Given the description of an element on the screen output the (x, y) to click on. 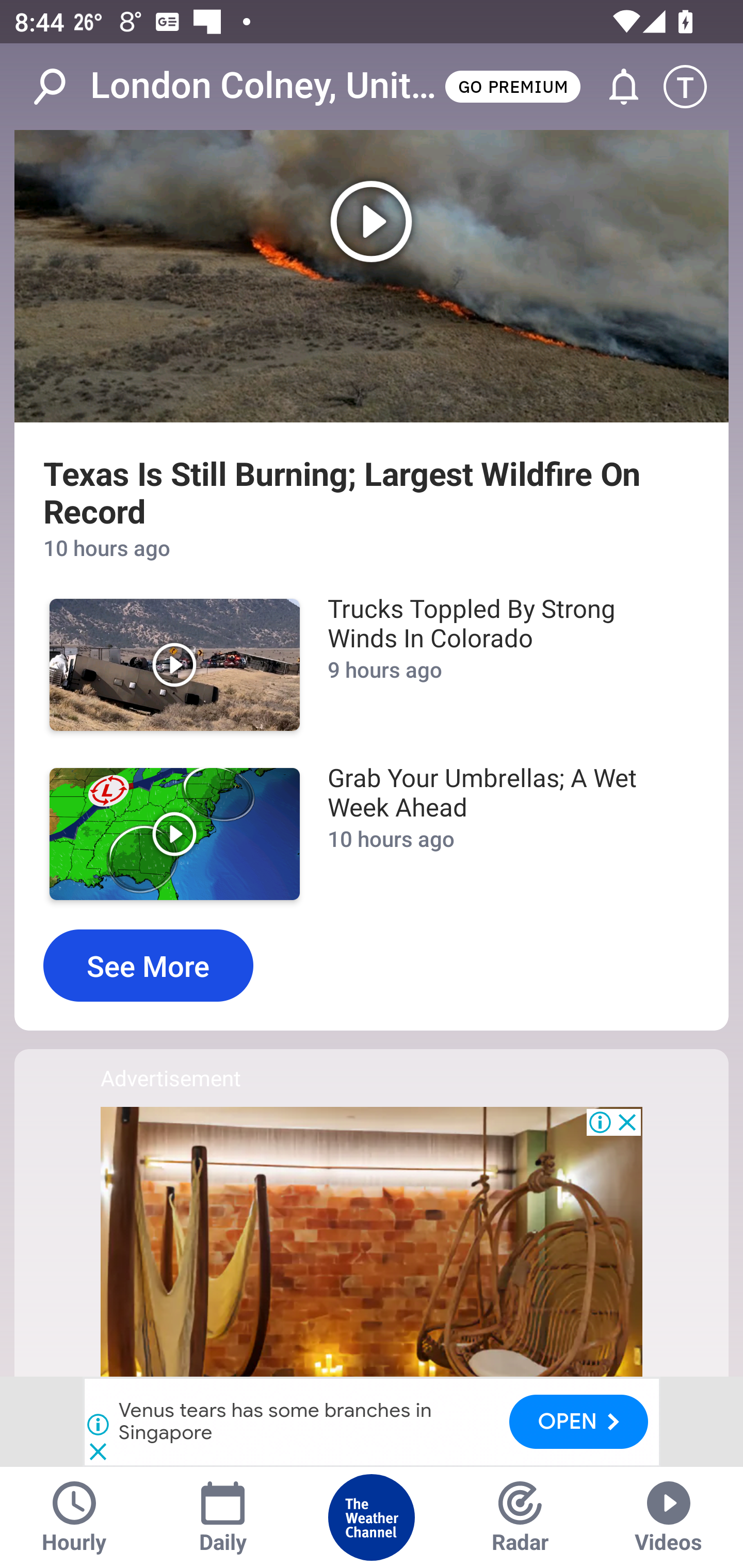
Search (59, 86)
Go to Alerts and Notifications (614, 86)
Setting icon T (694, 86)
London Colney, United Kingdom (265, 85)
GO PREMIUM (512, 85)
Play (371, 275)
Play (174, 664)
Grab Your Umbrellas; A Wet Week Ahead 10 hours ago (502, 833)
Play (174, 834)
See More (148, 965)
OPEN (578, 1420)
Hourly Tab Hourly (74, 1517)
Daily Tab Daily (222, 1517)
Radar Tab Radar (519, 1517)
Videos Tab Videos (668, 1517)
